Given the description of an element on the screen output the (x, y) to click on. 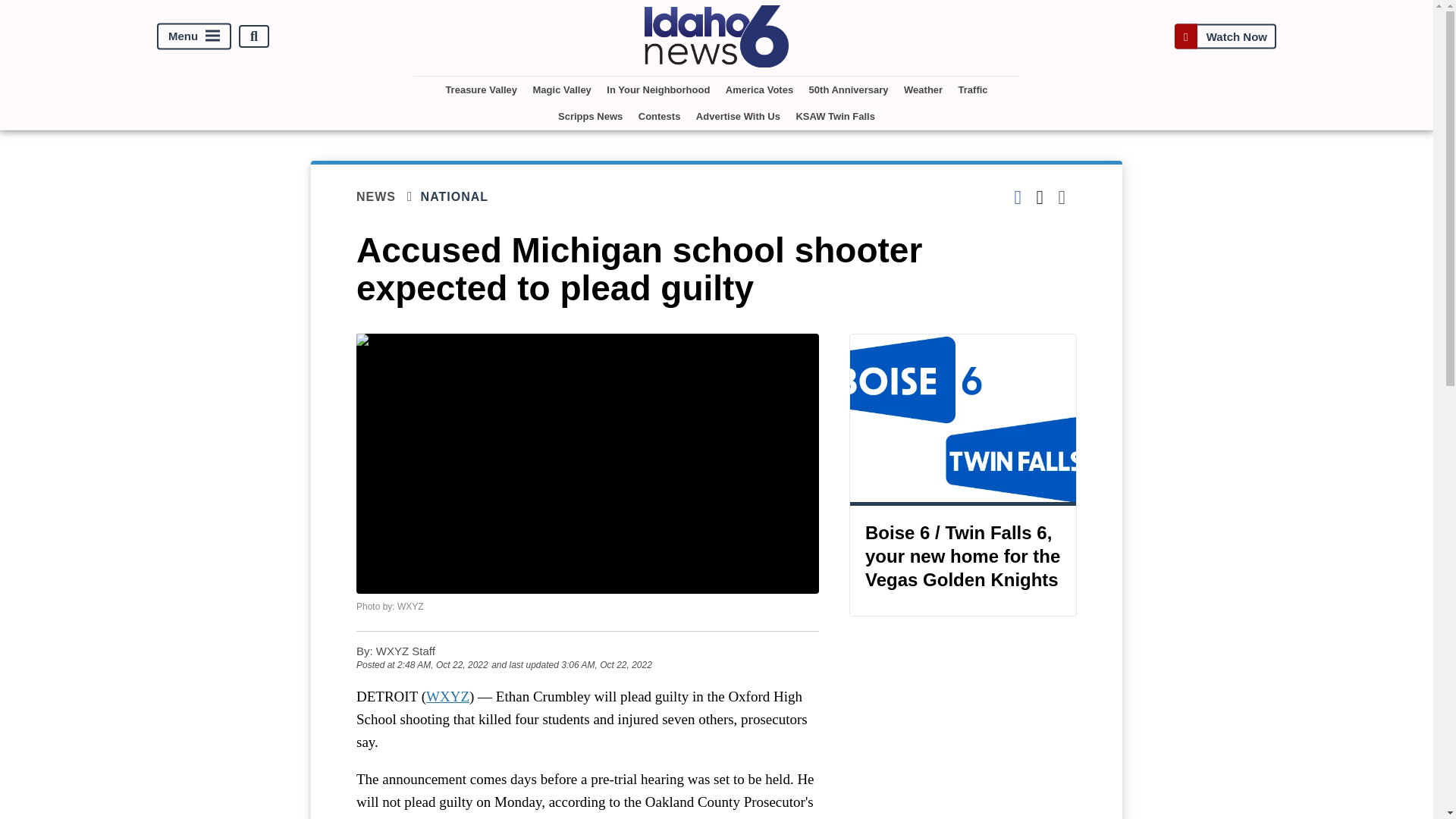
Watch Now (1224, 36)
Menu (194, 36)
